Given the description of an element on the screen output the (x, y) to click on. 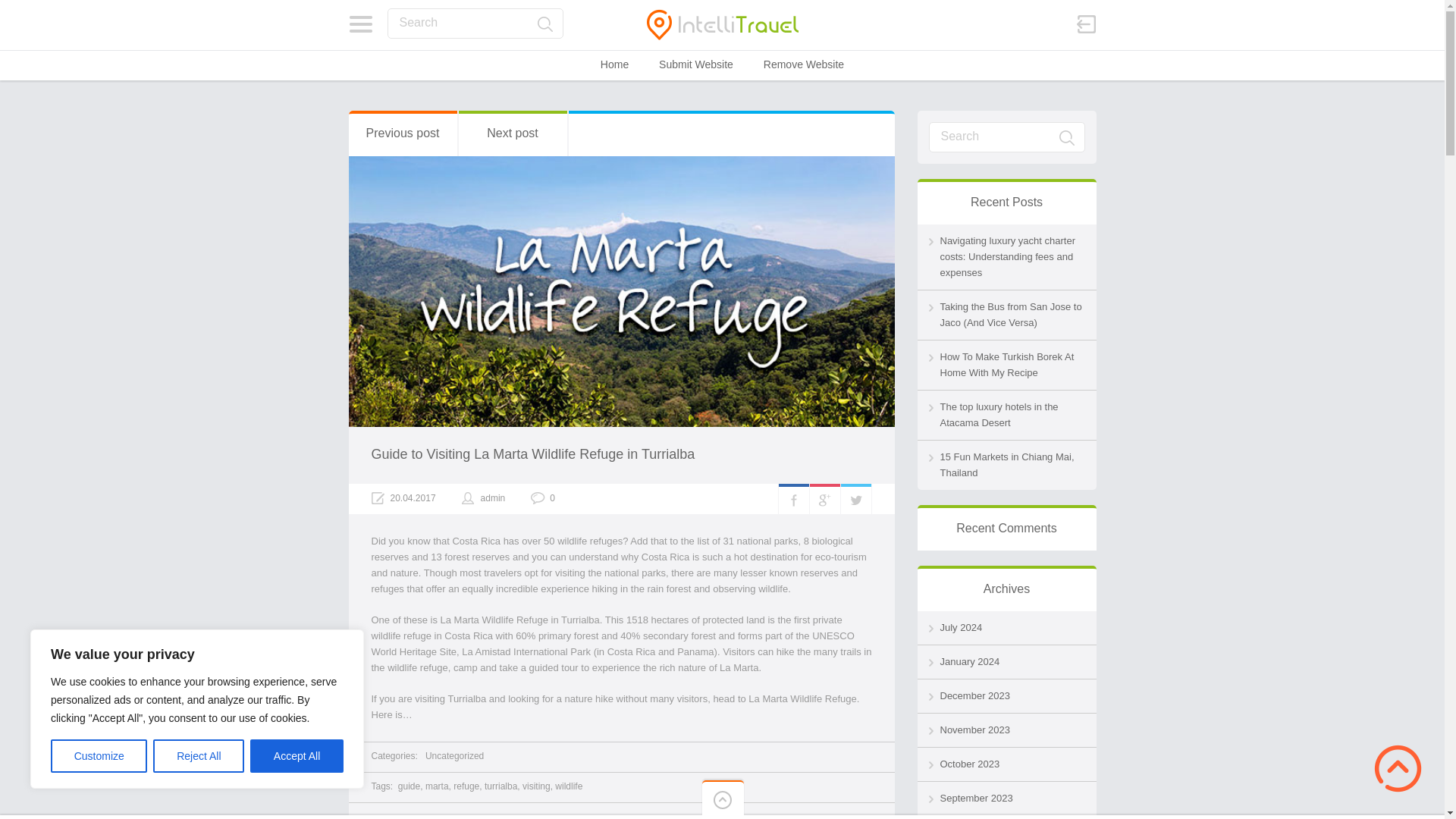
Previous post (403, 133)
Reject All (198, 756)
Submit Website (696, 64)
Search (474, 23)
Home (613, 64)
Post date (403, 498)
Sign in (1086, 24)
Search (1006, 137)
Intellitravel (721, 24)
Search (1066, 137)
Categories (360, 23)
Total comments (542, 498)
Accept All (296, 756)
Share on Facebook (792, 499)
Remove Website (803, 64)
